Given the description of an element on the screen output the (x, y) to click on. 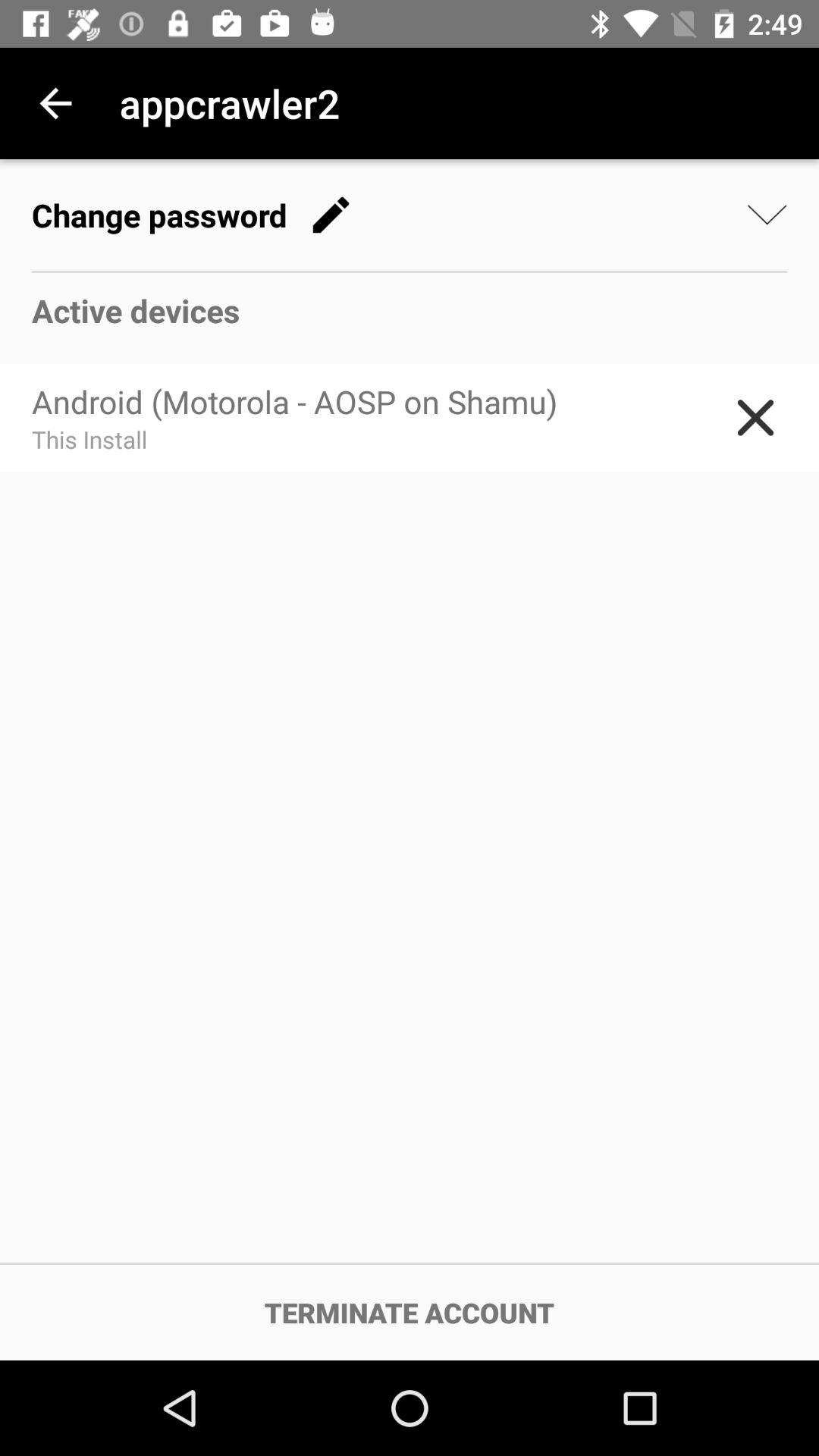
open icon next to the appcrawler2 app (55, 103)
